Given the description of an element on the screen output the (x, y) to click on. 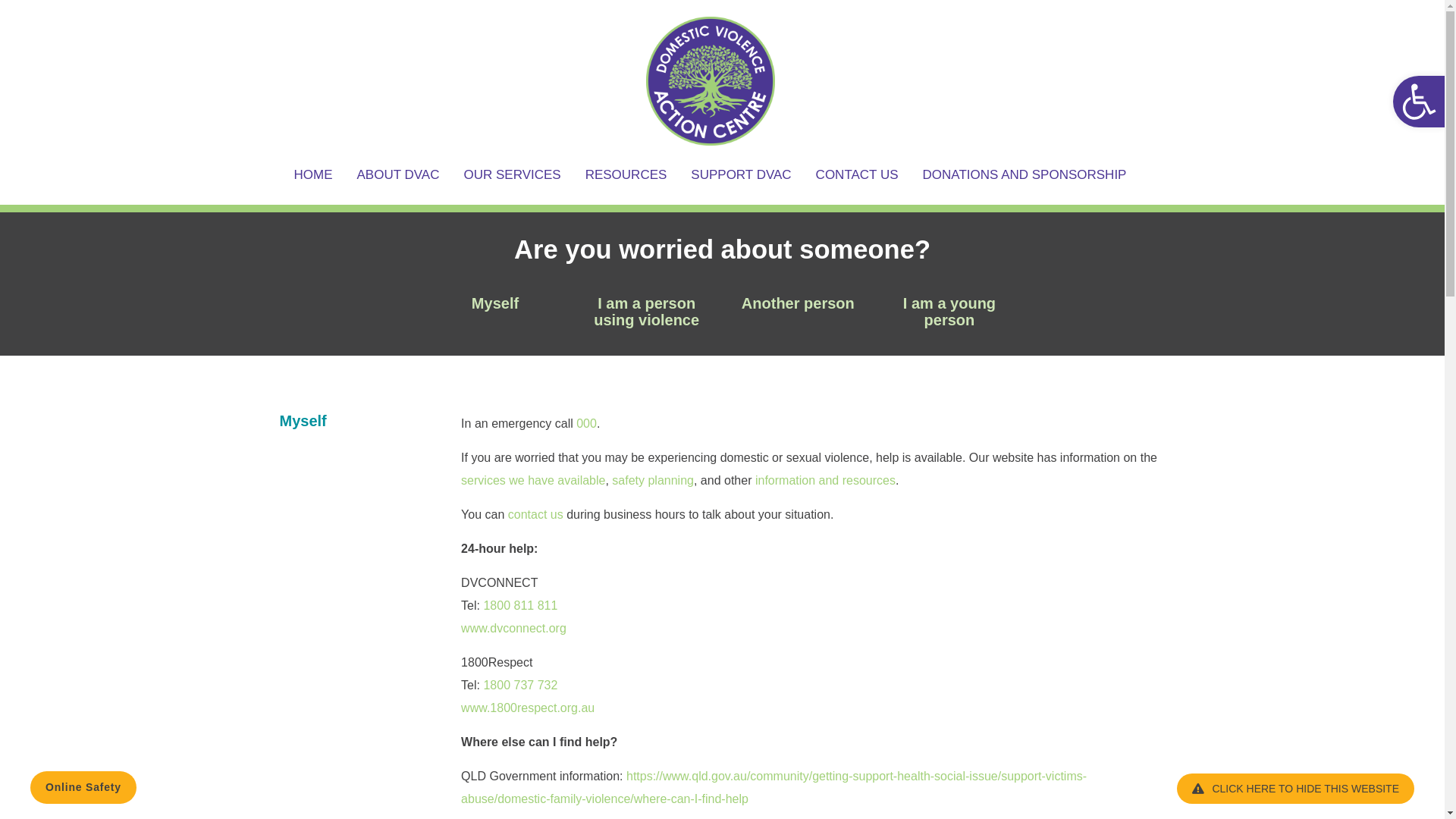
RESOURCES Element type: text (626, 175)
safety planning Element type: text (652, 479)
SUPPORT DVAC Element type: text (740, 175)
information and resources Element type: text (825, 479)
OUR SERVICES Element type: text (511, 175)
1800 737 732 Element type: text (520, 684)
Another person Element type: text (797, 302)
000 Element type: text (586, 423)
Domestic Violence Action Centre Element type: text (184, 163)
Myself Element type: text (494, 302)
HOME Element type: text (319, 175)
ABOUT DVAC Element type: text (398, 175)
www.dvconnect.org Element type: text (513, 627)
contact us Element type: text (535, 514)
1800 811 811 Element type: text (520, 605)
services we have available Element type: text (533, 479)
CLICK HERE TO HIDE THIS WEBSITE Element type: text (1295, 788)
I am a young person Element type: text (949, 311)
DONATIONS AND SPONSORSHIP Element type: text (1018, 175)
CONTACT US Element type: text (856, 175)
I am a person using violence Element type: text (646, 311)
www.1800respect.org.au Element type: text (527, 707)
Open toolbar
Accessibility Tools Element type: text (1418, 101)
